Given the description of an element on the screen output the (x, y) to click on. 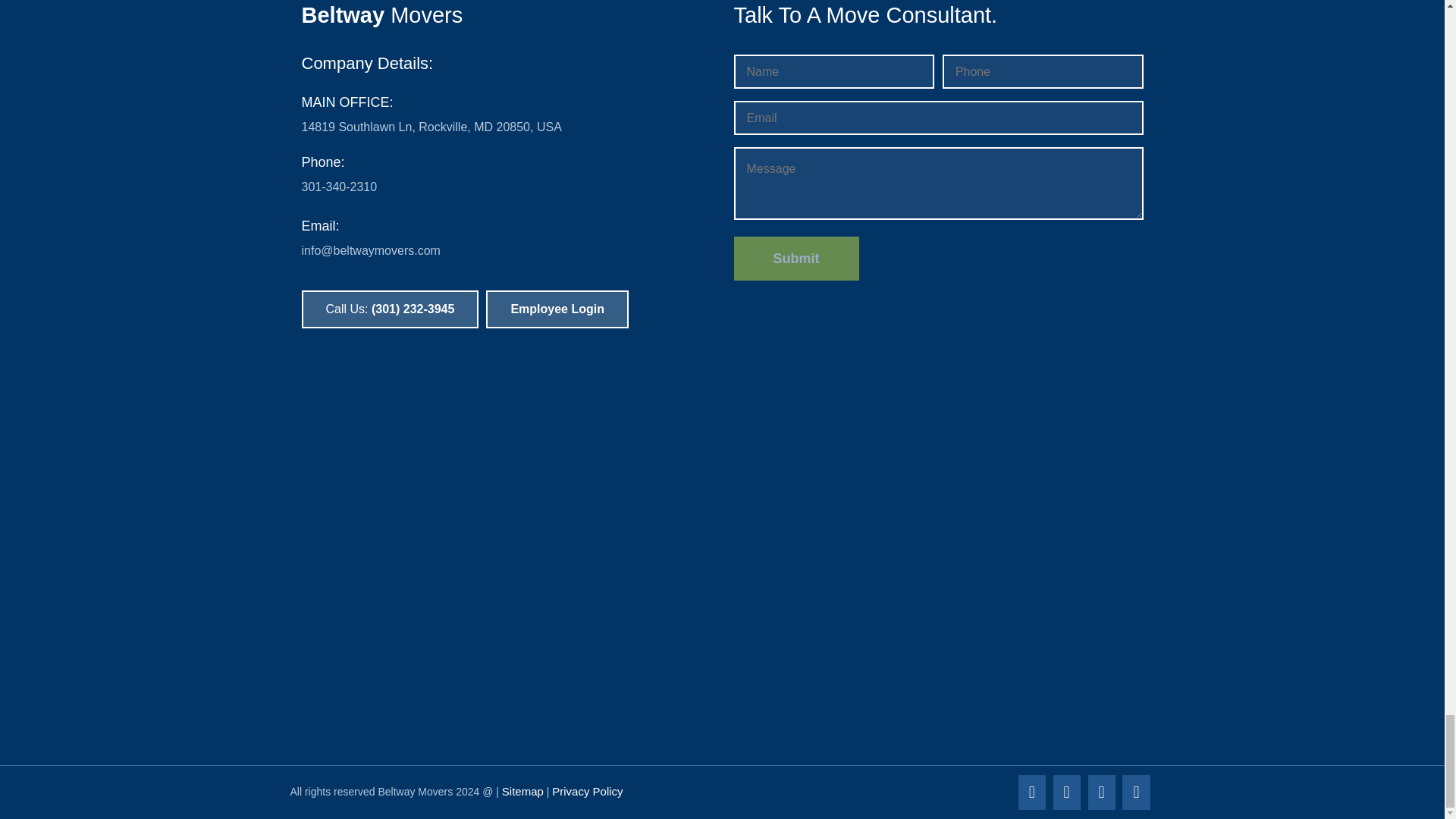
Submit (796, 258)
